Given the description of an element on the screen output the (x, y) to click on. 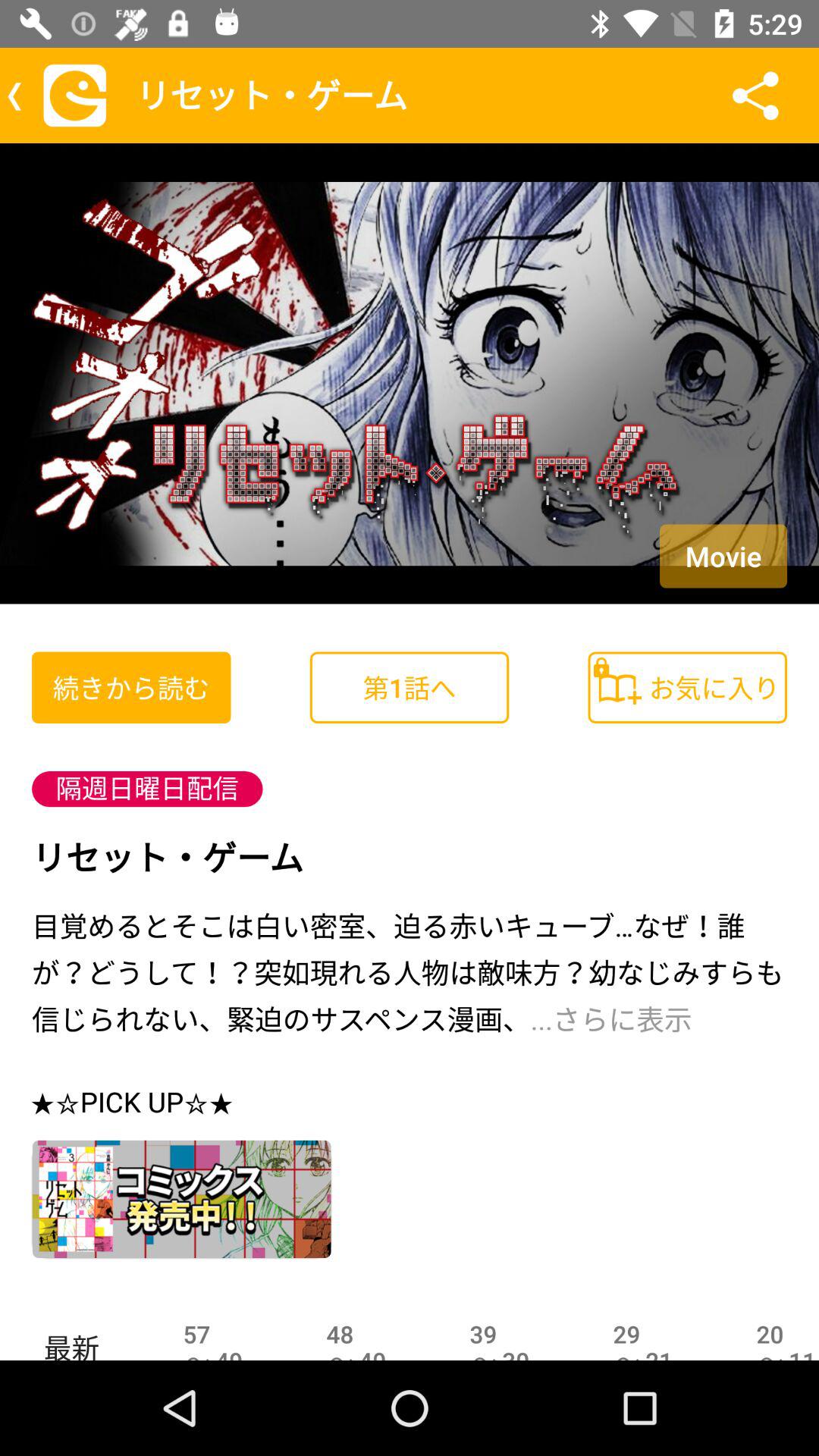
select the button below the image on the right hand side (687, 687)
select the text which is to the left of the share icon (416, 95)
choose movie on the image (723, 556)
